Given the description of an element on the screen output the (x, y) to click on. 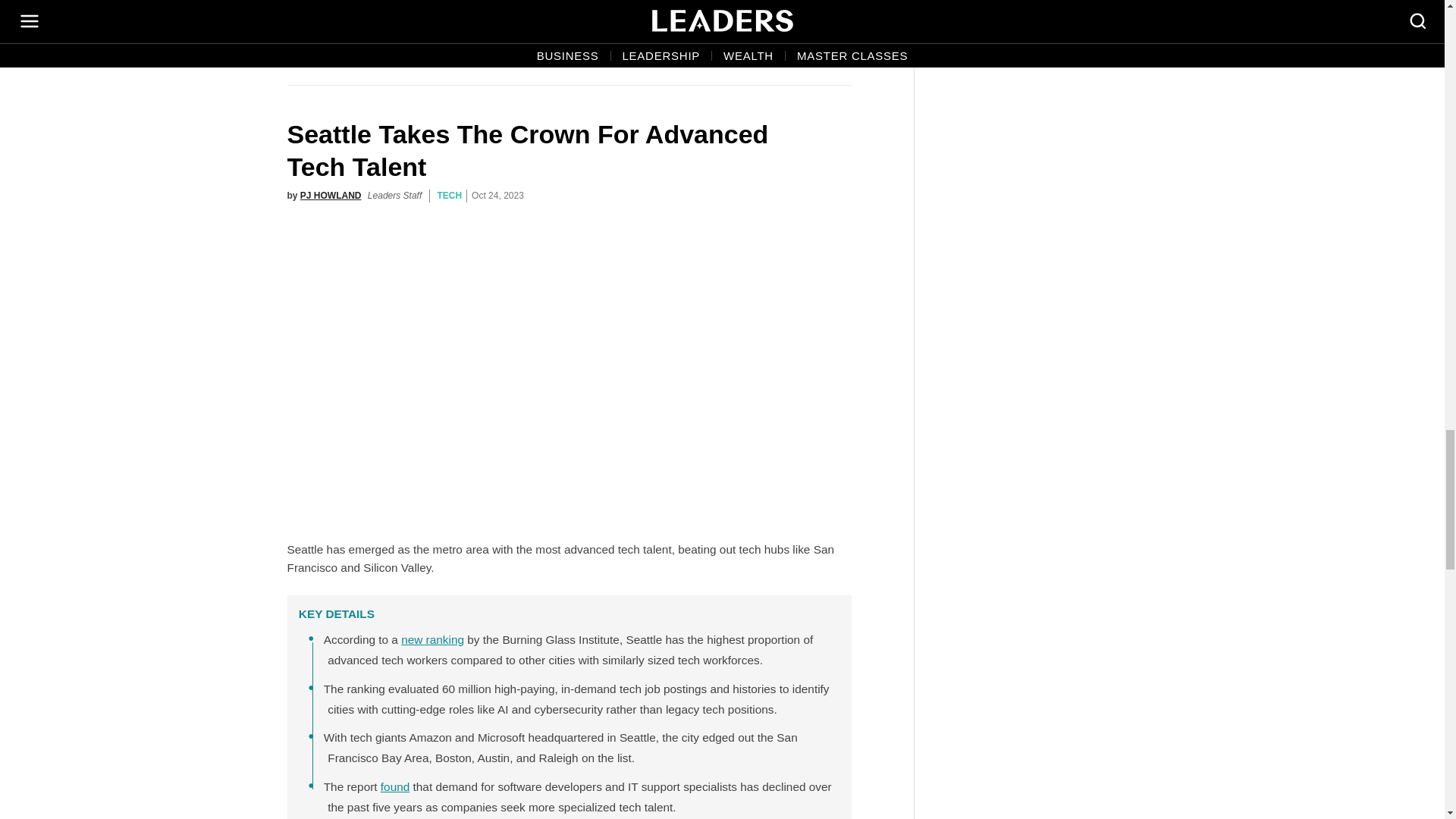
Share via Email (803, 40)
Share on Facebook (738, 40)
Share on Twitter (770, 40)
Share on LinkedIn (835, 40)
